Given the description of an element on the screen output the (x, y) to click on. 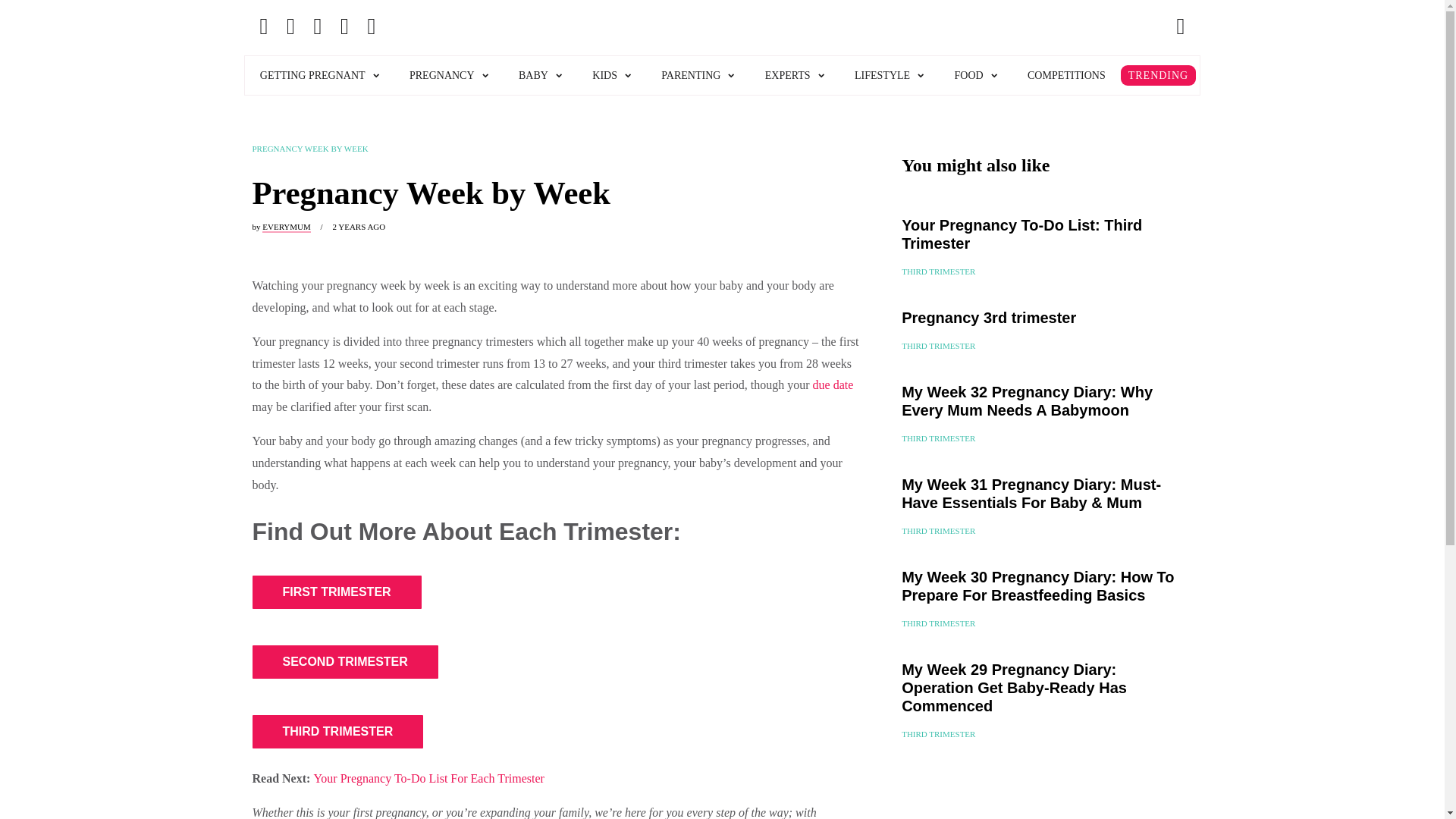
GETTING PREGNANT (319, 75)
KIDS (611, 75)
PARENTING (697, 75)
PREGNANCY (448, 75)
BABY (539, 75)
